Given the description of an element on the screen output the (x, y) to click on. 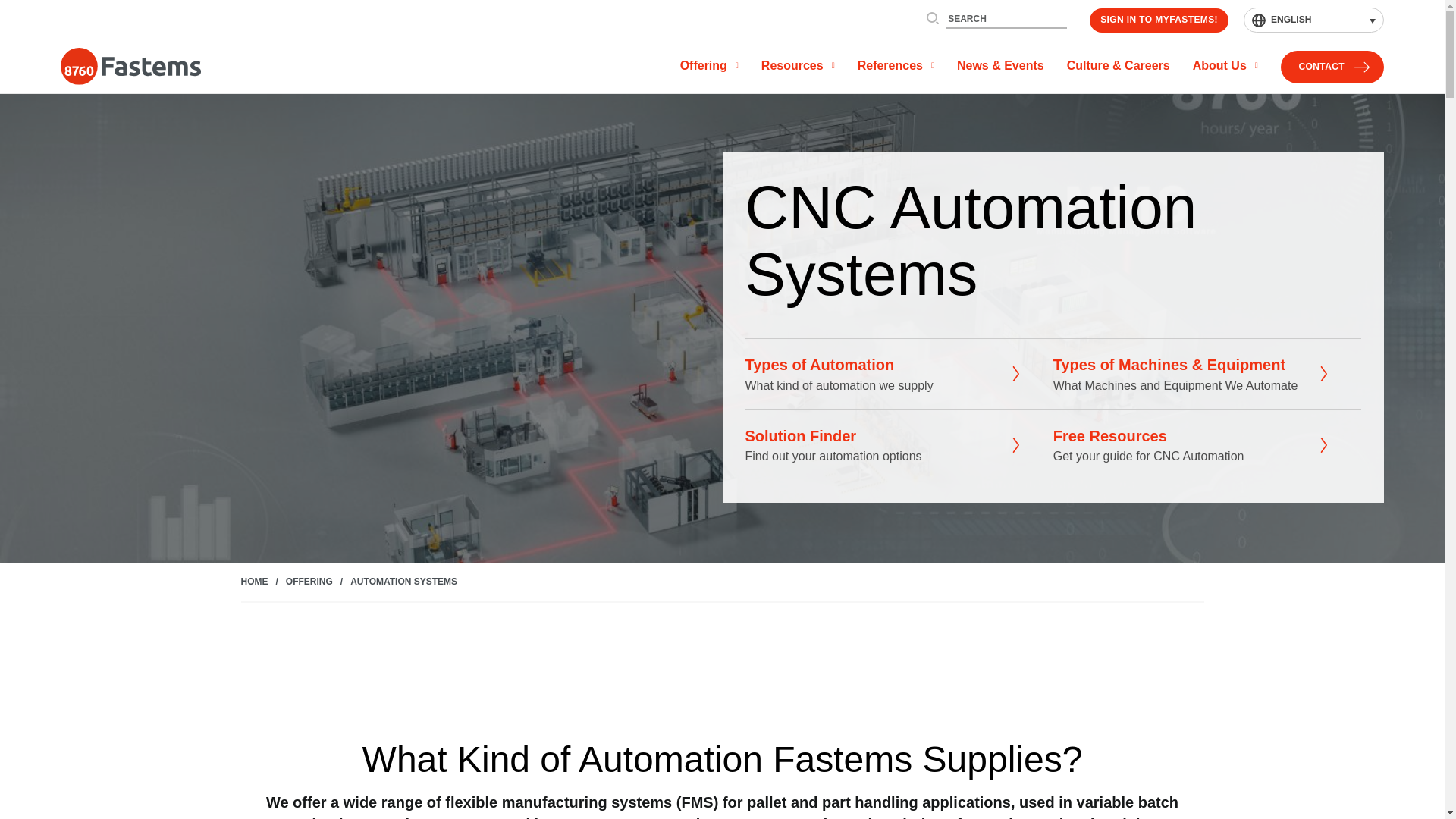
ENGLISH (1313, 19)
Offering (708, 66)
SIGN IN TO MYFASTEMS! (1158, 20)
Fastems (130, 66)
Resources (797, 66)
